Given the description of an element on the screen output the (x, y) to click on. 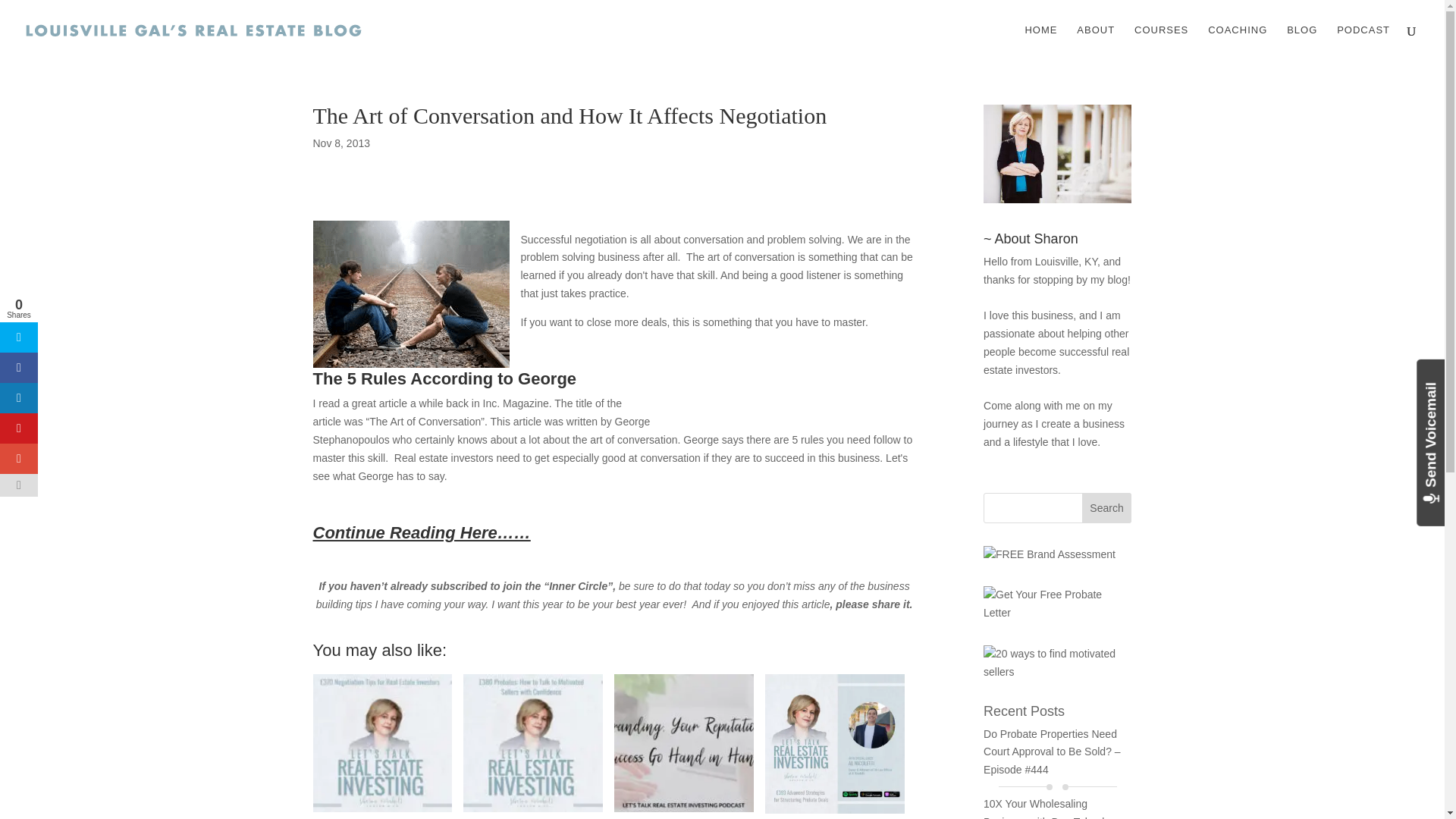
How Branding, Your Reputation, and Success Go Hand in Hand (684, 743)
COURSES (1161, 42)
Recent Posts (1024, 711)
ABOUT (1096, 42)
PODCAST (1363, 42)
Conversation (410, 293)
HOME (1041, 42)
Search (1106, 508)
Search (1106, 508)
COACHING (1237, 42)
How Branding, Your Reputation, and Success Go Hand in Hand (684, 746)
